Given the description of an element on the screen output the (x, y) to click on. 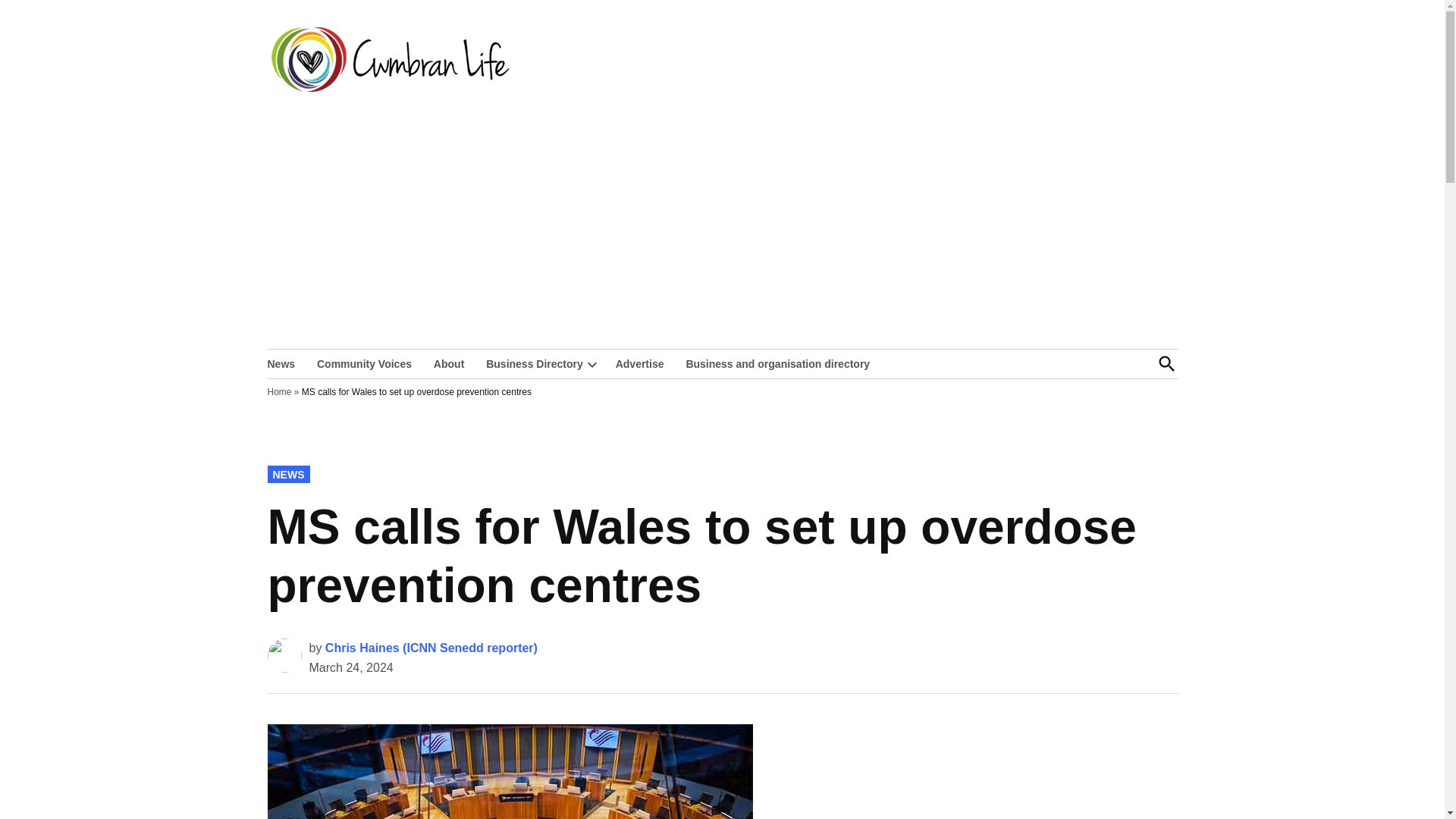
Open dropdown menu (592, 364)
Business and organisation directory (777, 362)
Community Voices (363, 362)
About (448, 362)
Business Directory (531, 362)
NEWS (287, 474)
Advertise (639, 362)
Business and organisation directory (777, 362)
News (284, 362)
Cwmbranlife (573, 70)
Home (278, 391)
